Given the description of an element on the screen output the (x, y) to click on. 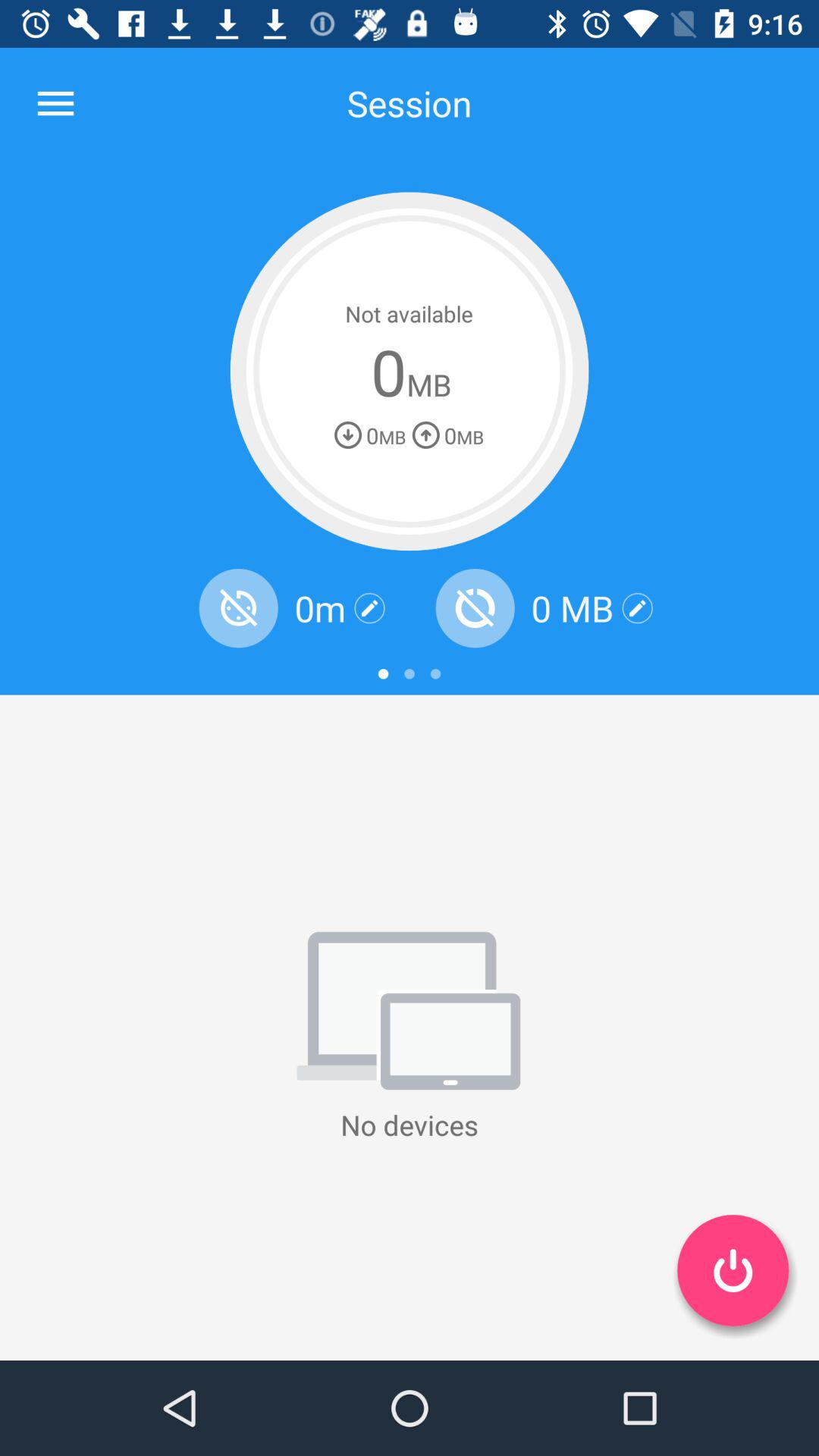
begin recording (733, 1270)
